Given the description of an element on the screen output the (x, y) to click on. 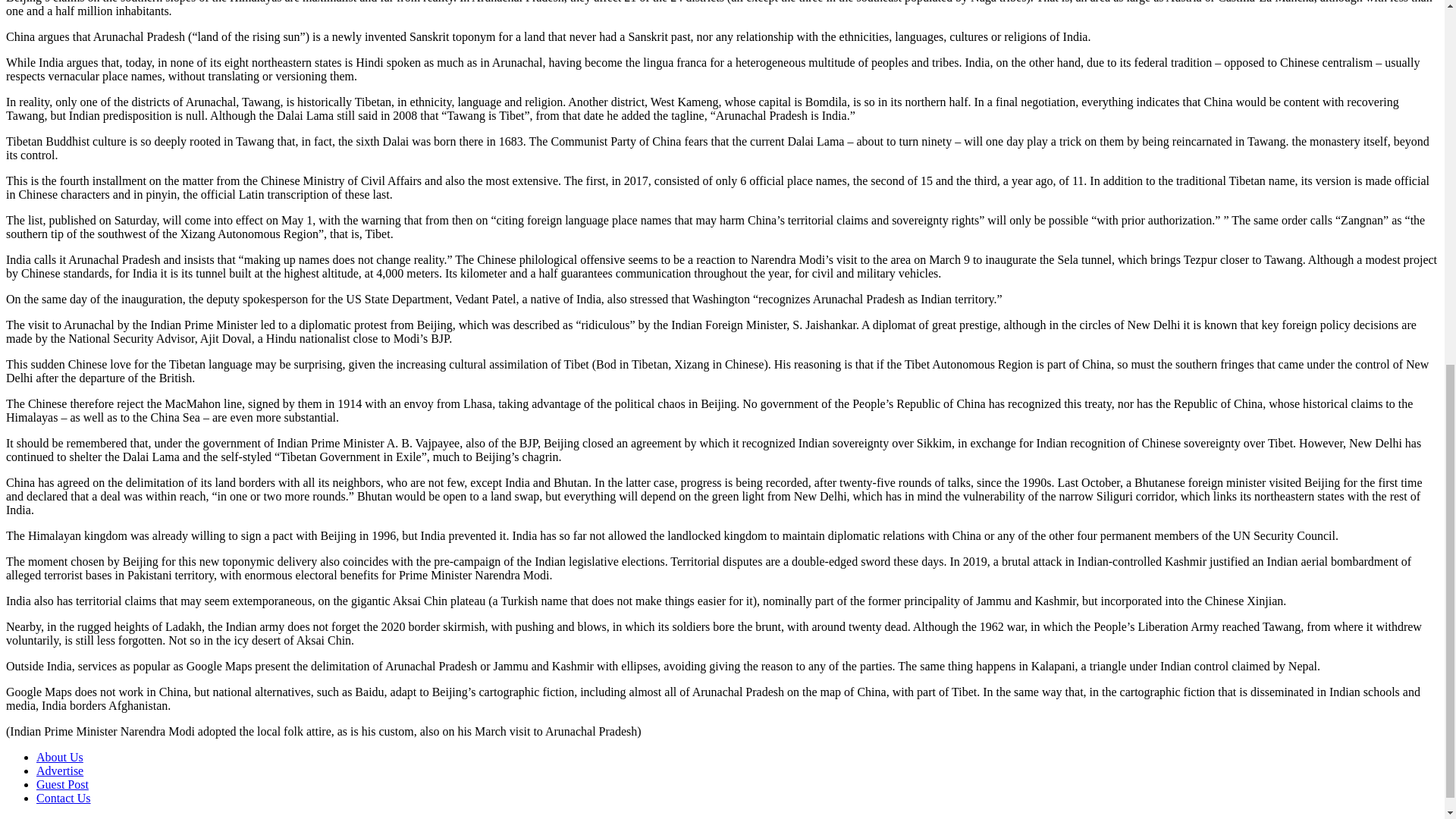
About Us (59, 757)
Contact Us (63, 797)
Guest Post (62, 784)
Advertise (59, 770)
